Given the description of an element on the screen output the (x, y) to click on. 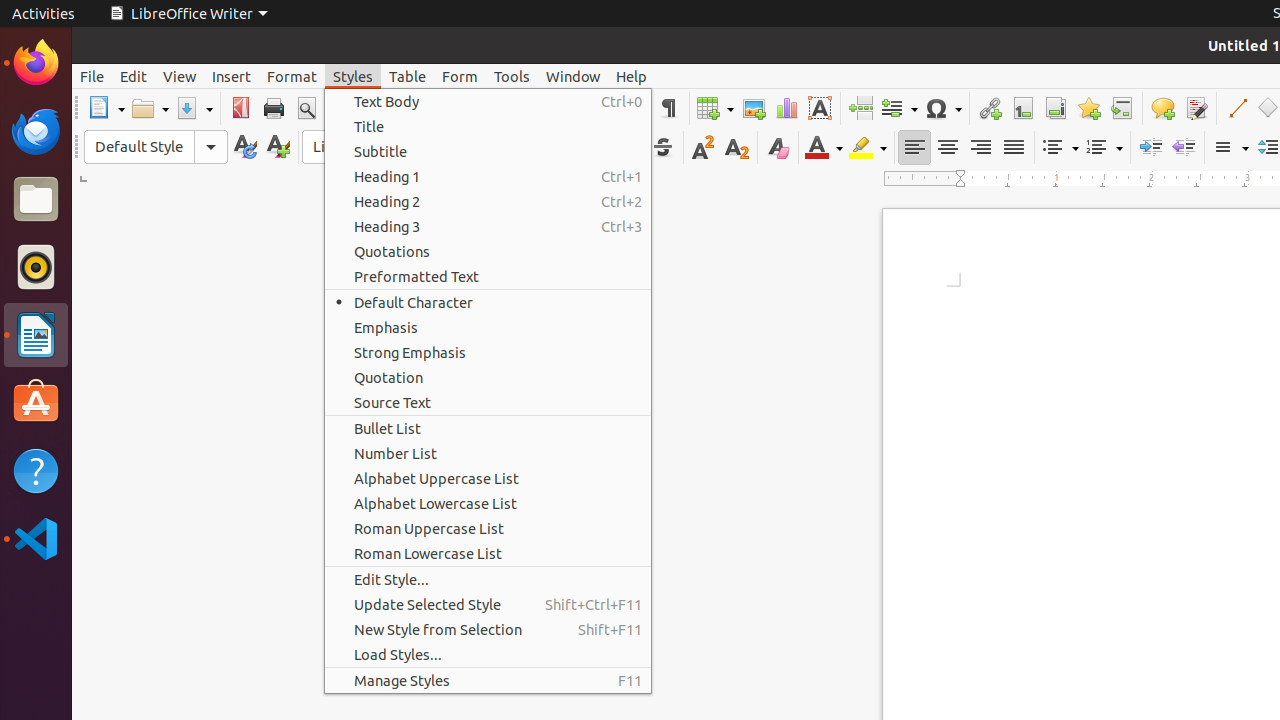
Page Break Element type: push-button (860, 108)
Highlight Color Element type: push-button (868, 147)
Heading 2 Element type: radio-menu-item (488, 201)
Paragraph Style Element type: combo-box (156, 147)
Source Text Element type: radio-menu-item (488, 402)
